Given the description of an element on the screen output the (x, y) to click on. 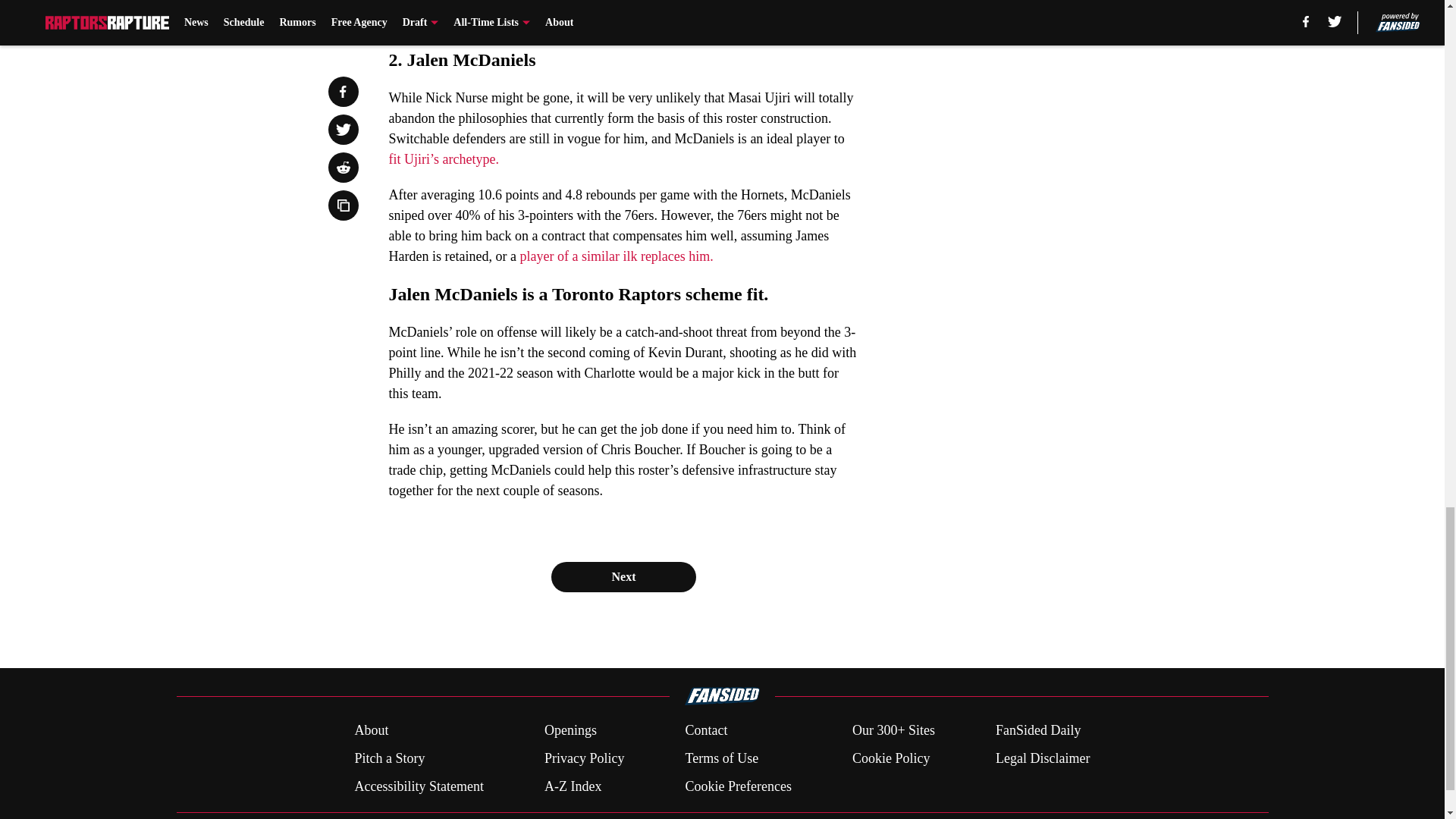
FanSided Daily (1038, 730)
About (370, 730)
Contact (705, 730)
Next (622, 576)
Pitch a Story (389, 758)
player of a similar ilk replaces him. (616, 255)
Privacy Policy (584, 758)
Terms of Use (721, 758)
Openings (570, 730)
